Given the description of an element on the screen output the (x, y) to click on. 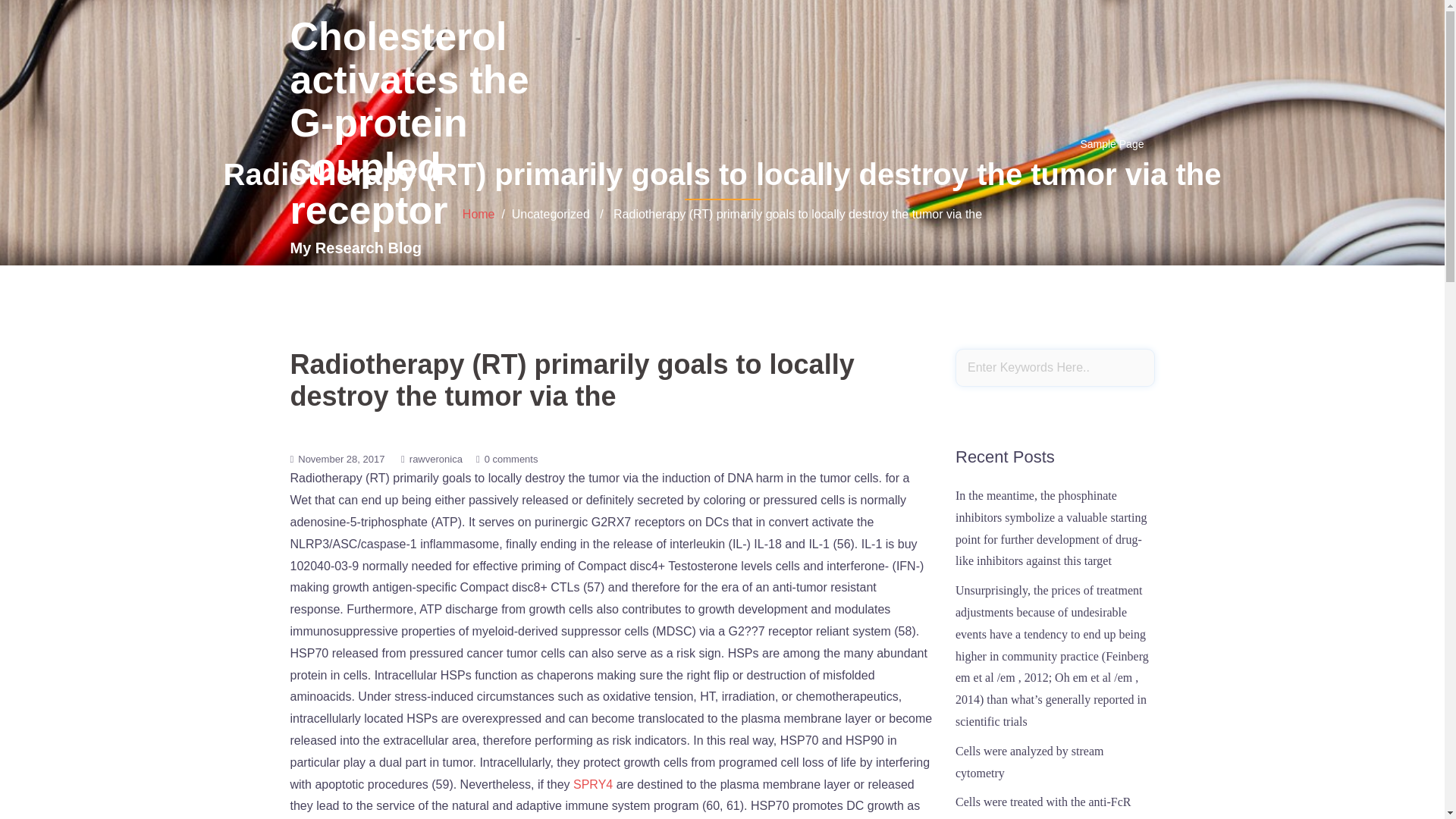
rawveronica (436, 459)
Cholesterol activates the G-protein coupled receptor (408, 122)
0 comments (511, 459)
SPRY4 (592, 784)
Cells were treated with the anti-FcR mAb 2 (1043, 807)
Search (50, 18)
Home (479, 214)
Sample Page (1111, 144)
Cells were analyzed by stream cytometry (1029, 761)
November 28, 2017 (341, 459)
